Given the description of an element on the screen output the (x, y) to click on. 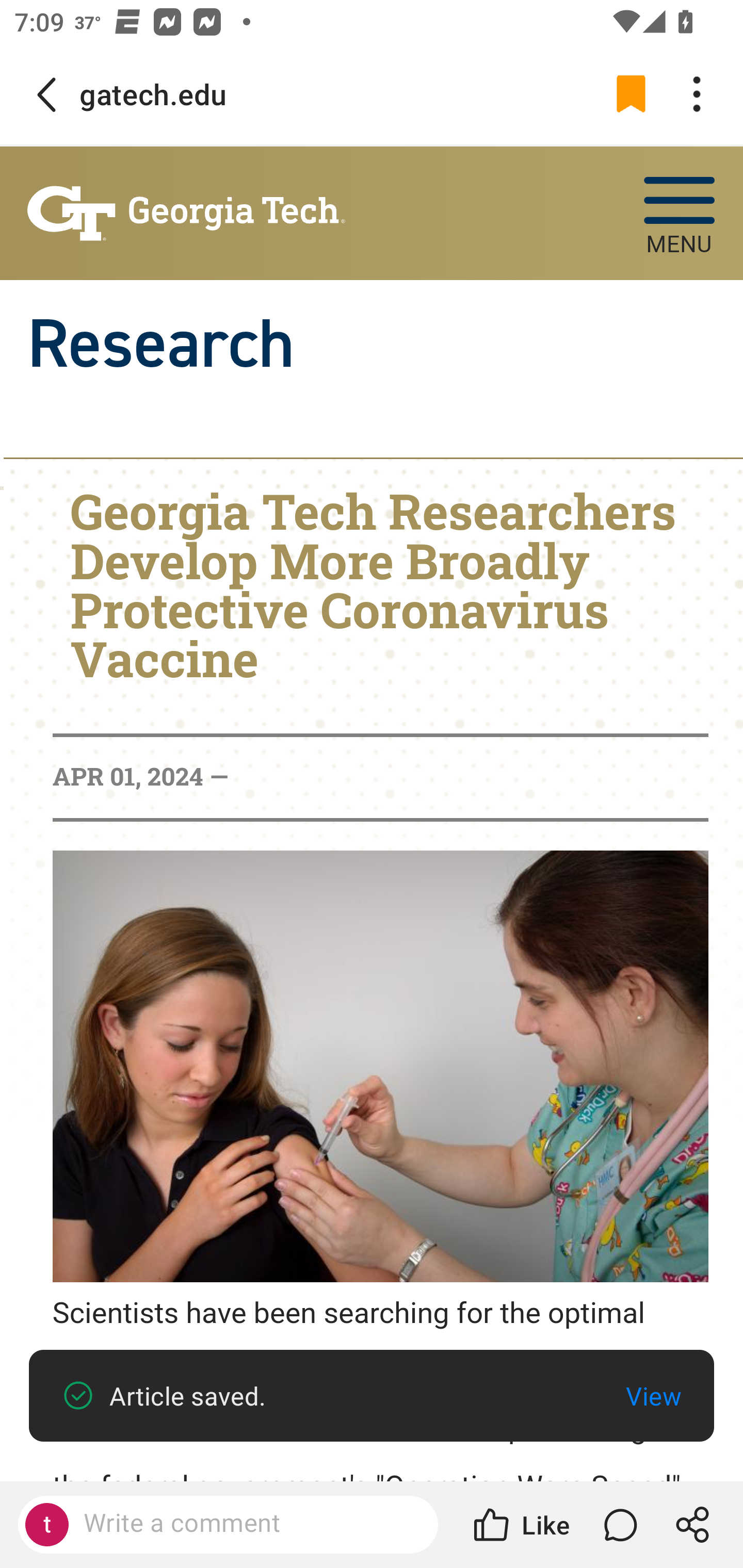
Toggle navigation (679, 202)
Georgia Institute of Technology (185, 213)
Research Research Research (371, 343)
Research (160, 343)
View (653, 1395)
Like (519, 1524)
Write a comment (245, 1523)
